Given the description of an element on the screen output the (x, y) to click on. 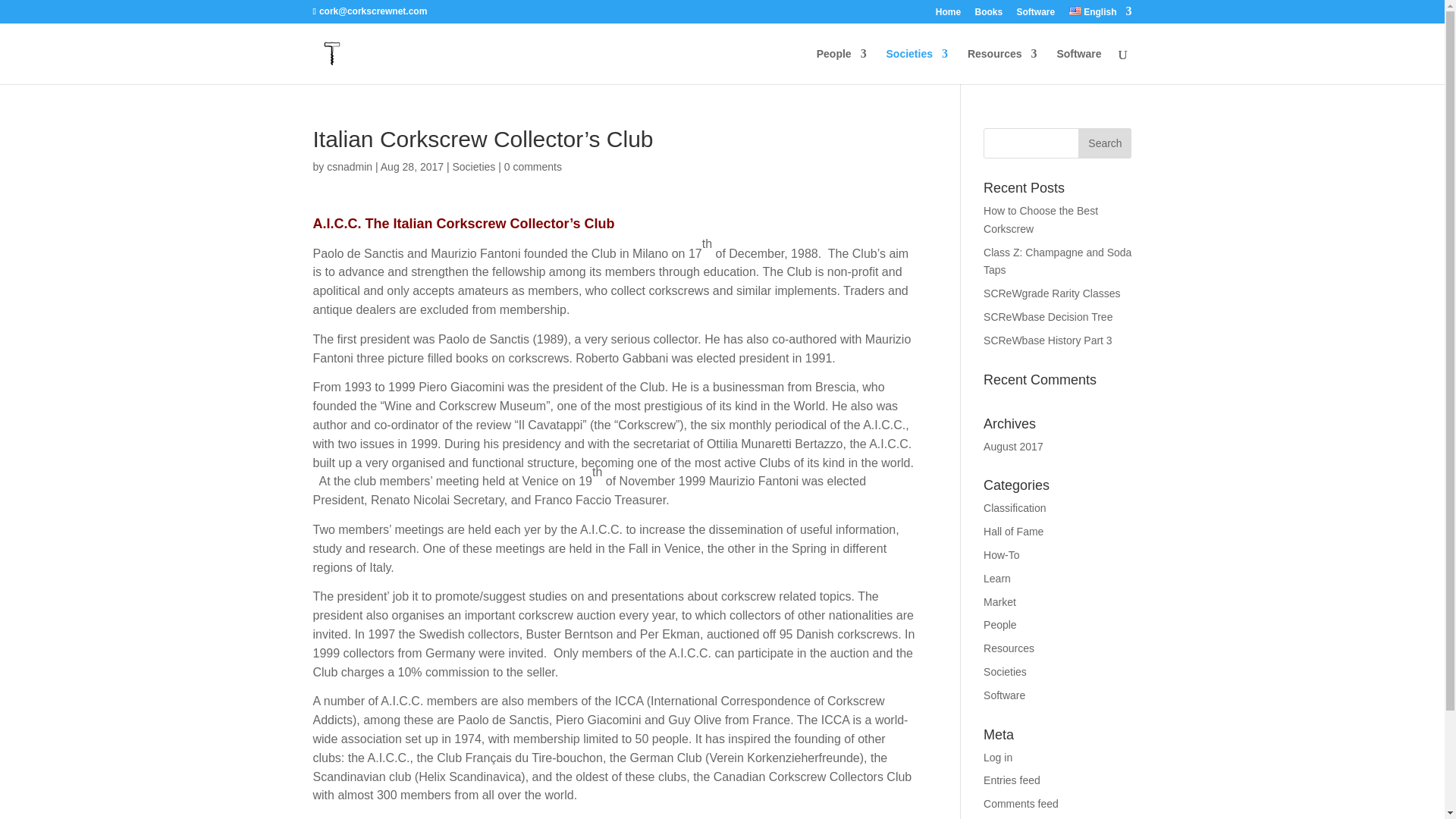
Posts by csnadmin (349, 166)
Societies (916, 66)
Software (1035, 15)
Books (989, 15)
English (1074, 10)
English (1100, 14)
Home (948, 15)
Software (1078, 66)
People (841, 66)
Resources (1002, 66)
